Given the description of an element on the screen output the (x, y) to click on. 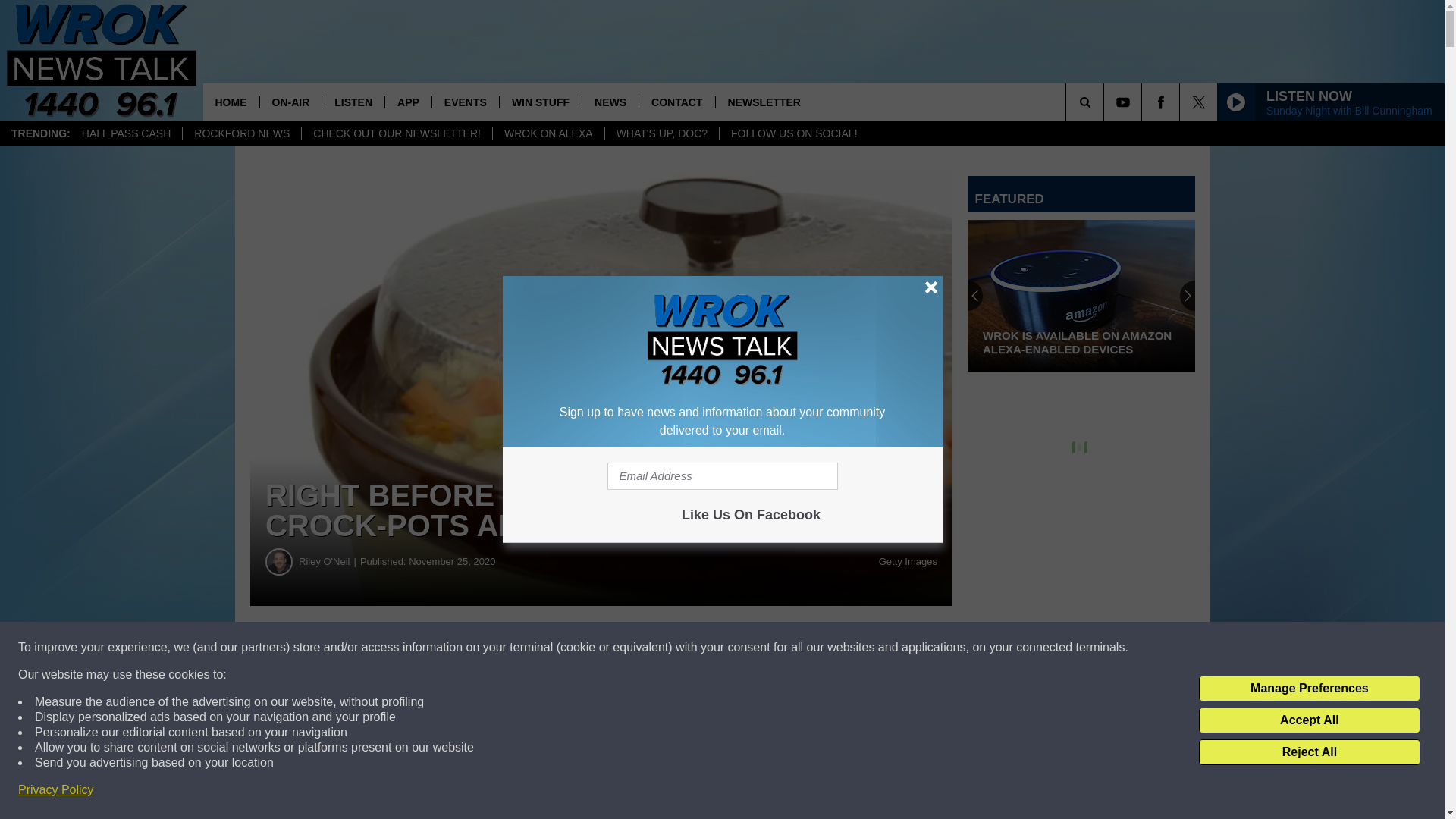
EVENTS (464, 102)
WIN STUFF (539, 102)
WHAT'S UP, DOC? (661, 133)
Share on Facebook (460, 647)
APP (407, 102)
HOME (231, 102)
Manage Preferences (1309, 688)
Reject All (1309, 751)
SEARCH (1106, 102)
SEARCH (1106, 102)
LISTEN (352, 102)
Privacy Policy (55, 789)
CHECK OUT OUR NEWSLETTER! (396, 133)
Email Address (722, 475)
Accept All (1309, 720)
